Given the description of an element on the screen output the (x, y) to click on. 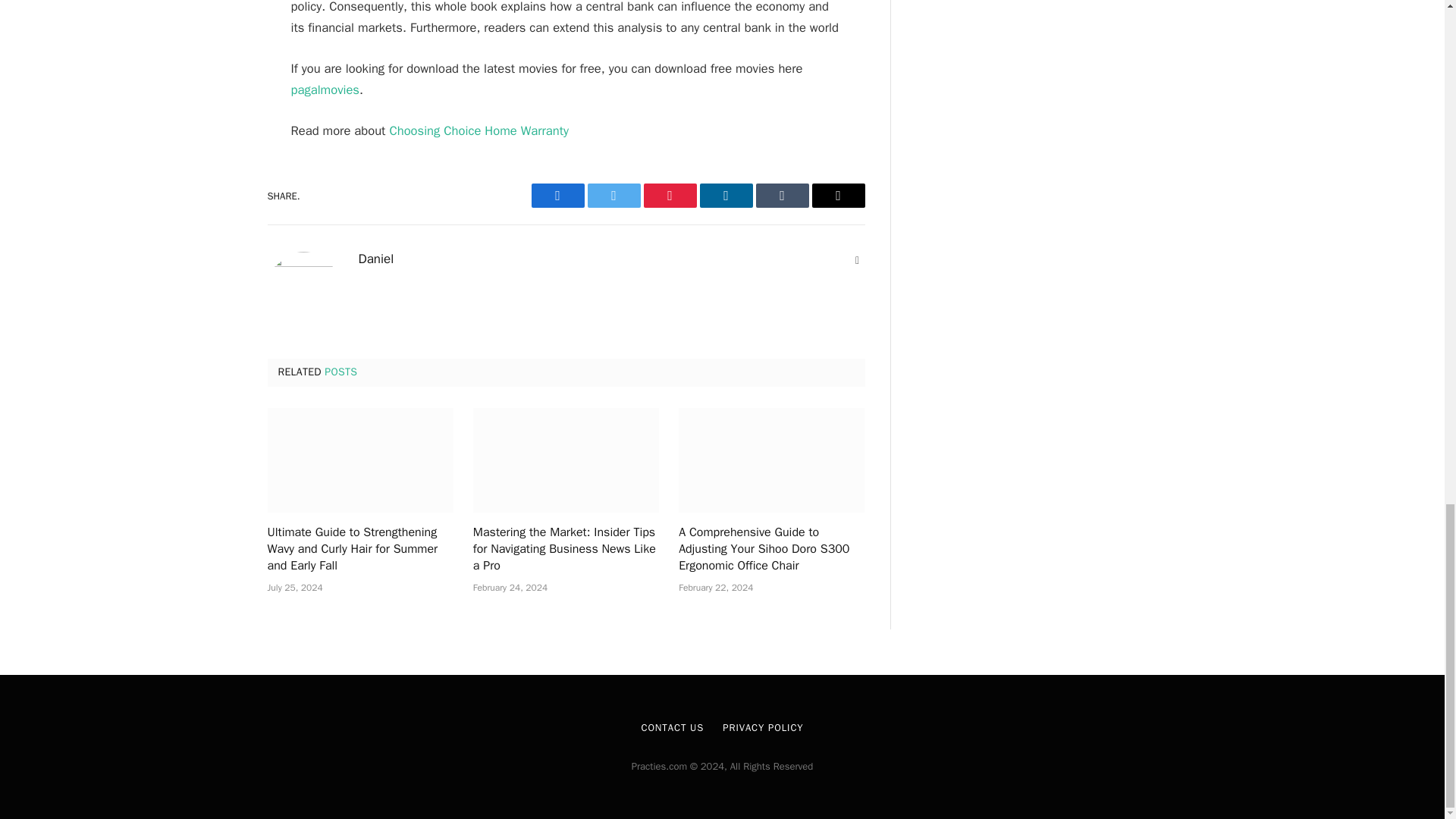
Choosing Choice Home Warranty (478, 130)
Facebook (557, 195)
pagalmovies (325, 89)
